Given the description of an element on the screen output the (x, y) to click on. 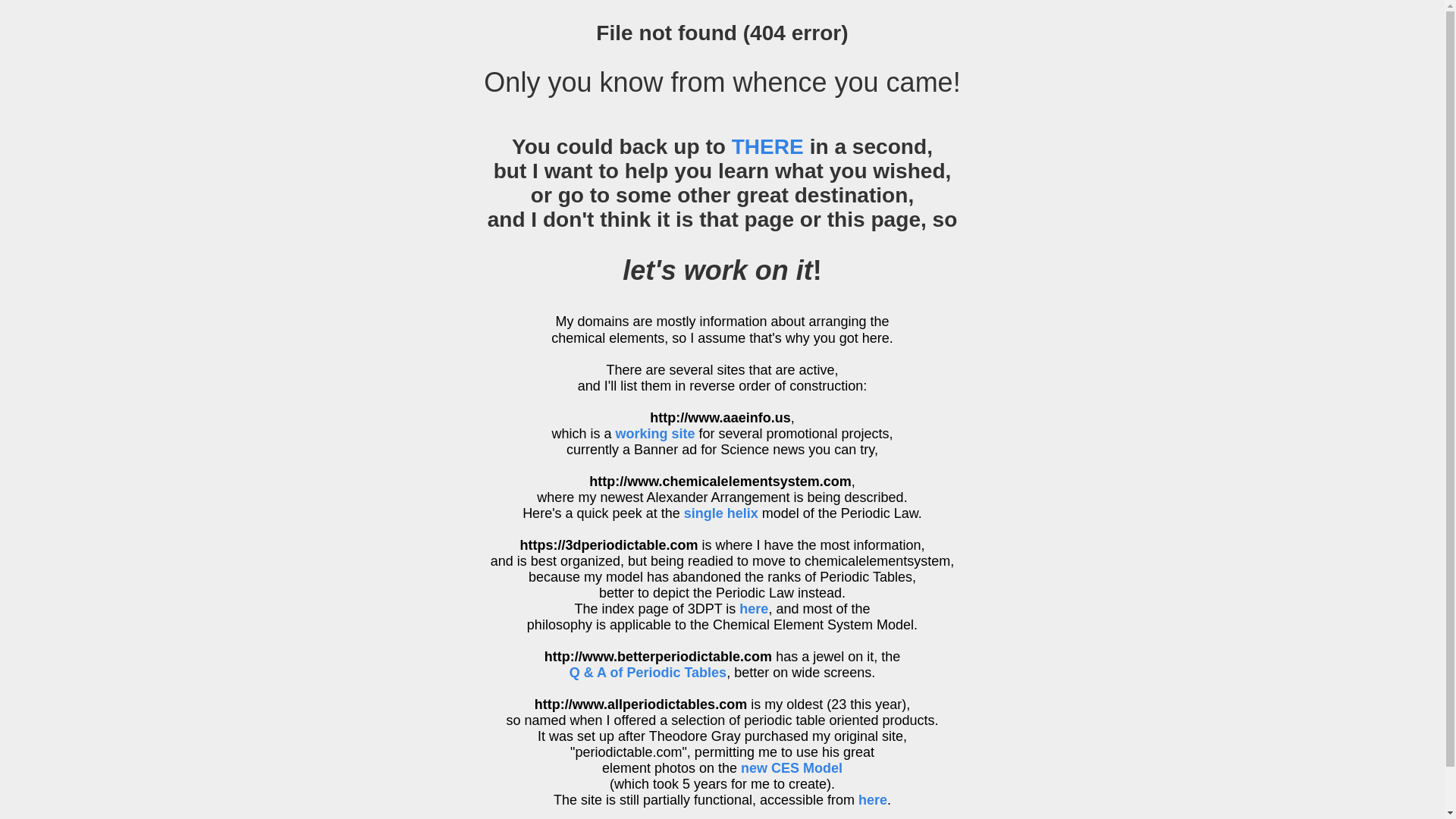
new CES Model Element type: text (791, 767)
here Element type: text (872, 799)
THERE Element type: text (767, 146)
single helix Element type: text (721, 512)
here Element type: text (753, 608)
working site Element type: text (654, 433)
Q & A of Periodic Tables Element type: text (734, 680)
